Given the description of an element on the screen output the (x, y) to click on. 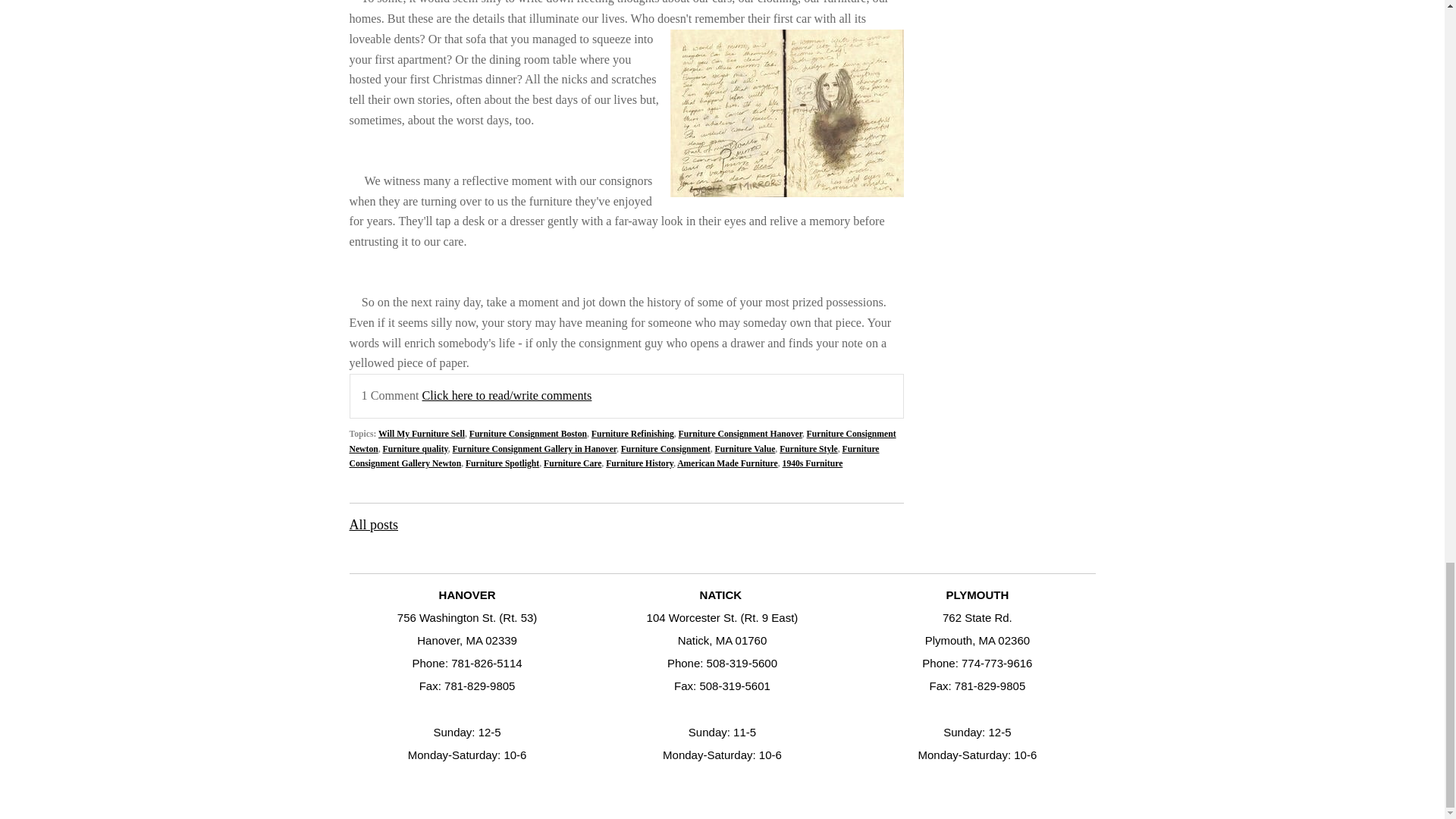
Will My Furniture Sell (421, 433)
Furniture Value (745, 449)
Furniture Consignment Newton (622, 441)
All posts (373, 524)
American Made Furniture (727, 463)
Furniture Refinishing (632, 433)
Furniture Care (572, 463)
Furniture Consignment Hanover (740, 433)
1940s Furniture (813, 463)
Furniture Spotlight (501, 463)
